Given the description of an element on the screen output the (x, y) to click on. 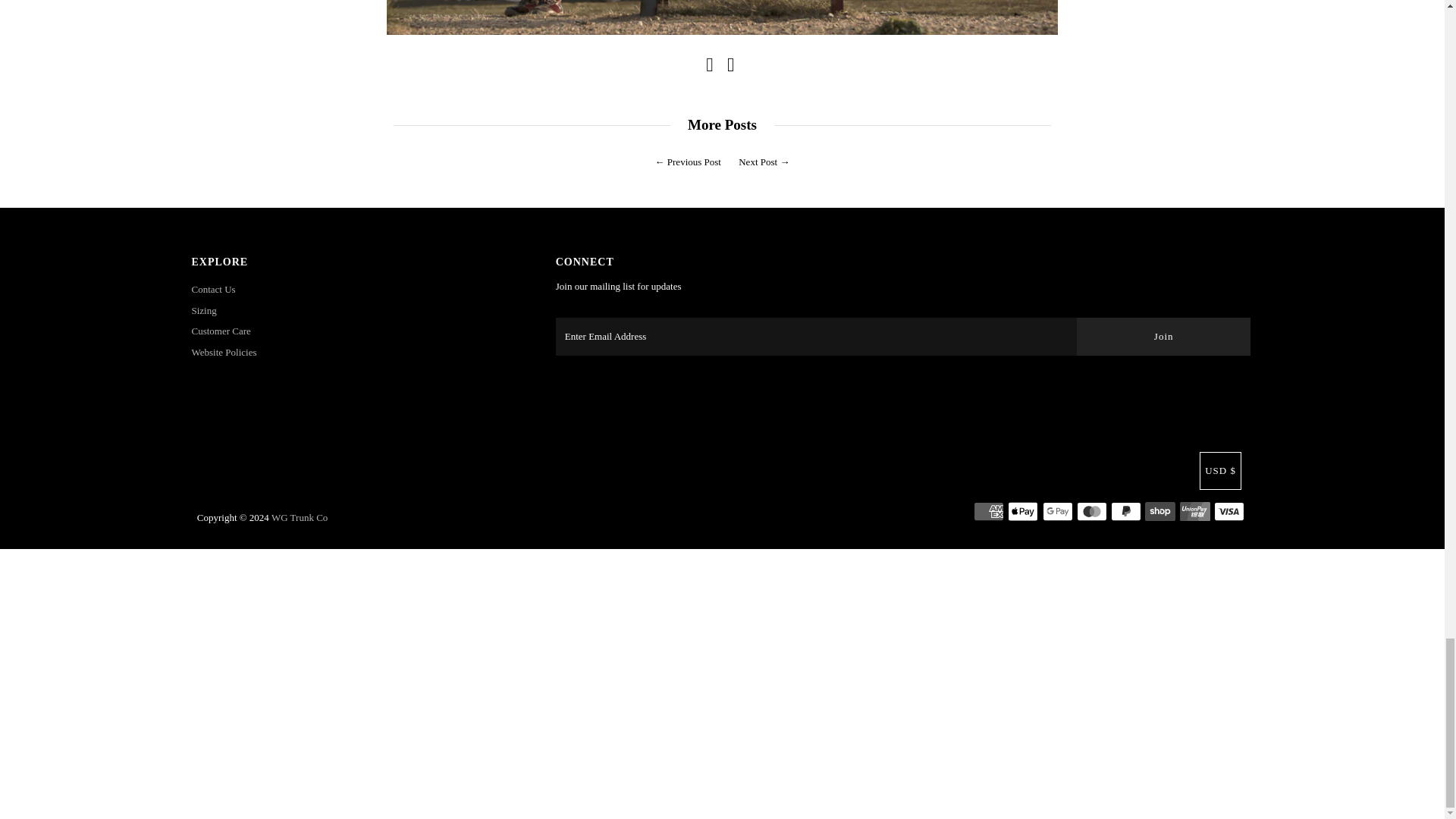
Visa (1229, 511)
Apple Pay (1022, 511)
Google Pay (1057, 511)
Join (1163, 336)
Mastercard (1091, 511)
American Express (989, 511)
Shop Pay (1159, 511)
Union Pay (1194, 511)
PayPal (1125, 511)
